Given the description of an element on the screen output the (x, y) to click on. 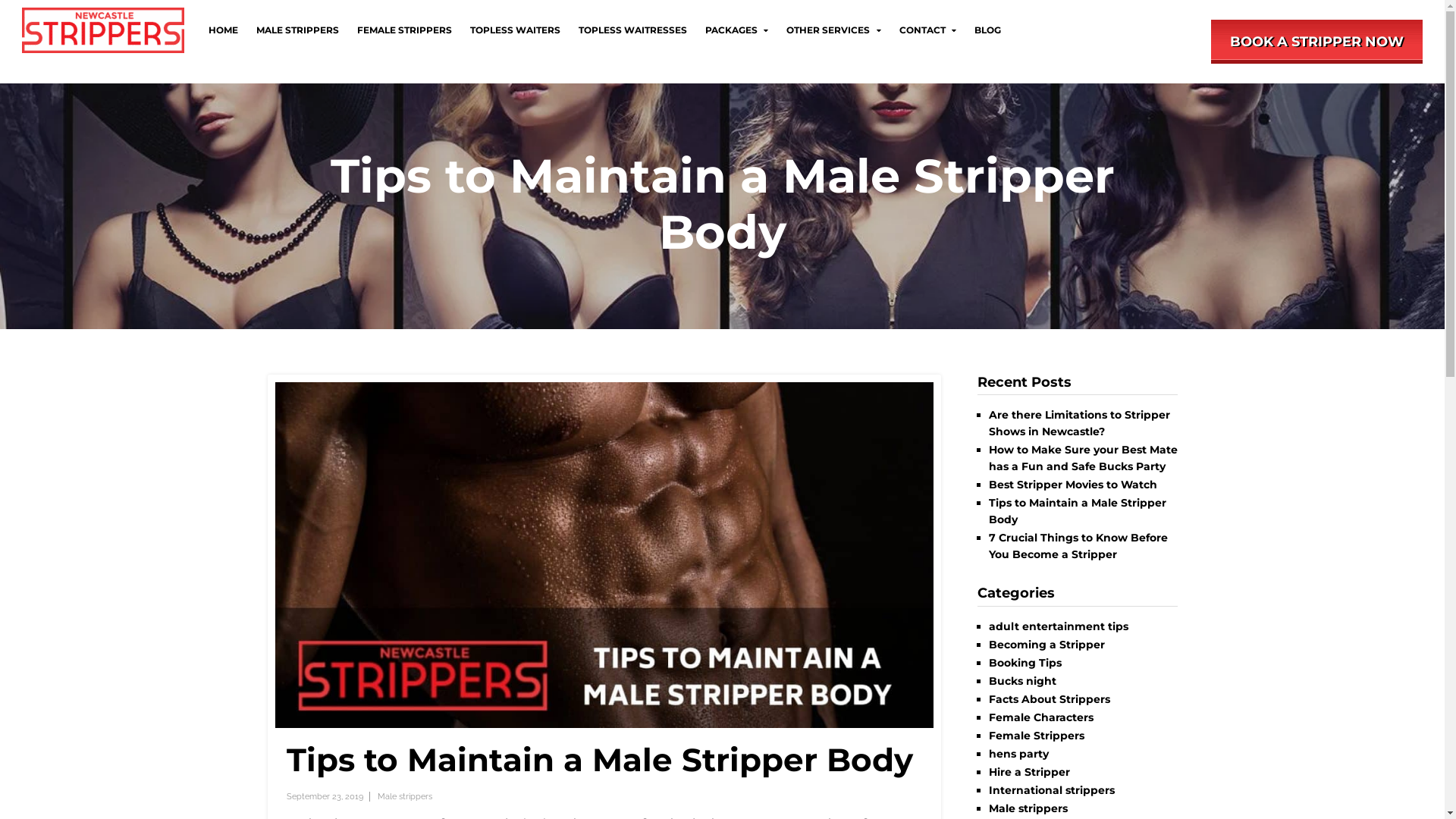
Hire a Stripper Element type: text (1029, 771)
TOPLESS WAITERS Element type: text (515, 29)
International strippers Element type: text (1051, 790)
Male strippers Element type: text (1027, 808)
7 Crucial Things to Know Before You Become a Stripper Element type: text (1077, 545)
CONTACT Element type: text (927, 29)
MALE STRIPPERS Element type: text (297, 29)
Tips to Maintain a Male Stripper Body Element type: text (1077, 510)
Best Stripper Movies to Watch Element type: text (1072, 484)
PACKAGES Element type: text (736, 29)
Becoming a Stripper Element type: text (1046, 644)
Tips to Maintain a Male Stripper Body Element type: text (599, 759)
BLOG Element type: text (987, 29)
Bucks night Element type: text (1022, 680)
Facts About Strippers Element type: text (1049, 699)
Female Characters Element type: text (1040, 717)
OTHER SERVICES Element type: text (833, 29)
Are there Limitations to Stripper Shows in Newcastle? Element type: text (1079, 422)
FEMALE STRIPPERS Element type: text (404, 29)
Booking Tips Element type: text (1024, 662)
TOPLESS WAITRESSES Element type: text (632, 29)
BOOK A STRIPPER NOW Element type: text (1316, 41)
Female Strippers Element type: text (1036, 735)
Male strippers Element type: text (404, 796)
HOME Element type: text (223, 29)
Tips to Maintain a Male Stripper Body - Element type: hover (603, 555)
hens party Element type: text (1018, 753)
adult entertainment tips Element type: text (1058, 626)
